Given the description of an element on the screen output the (x, y) to click on. 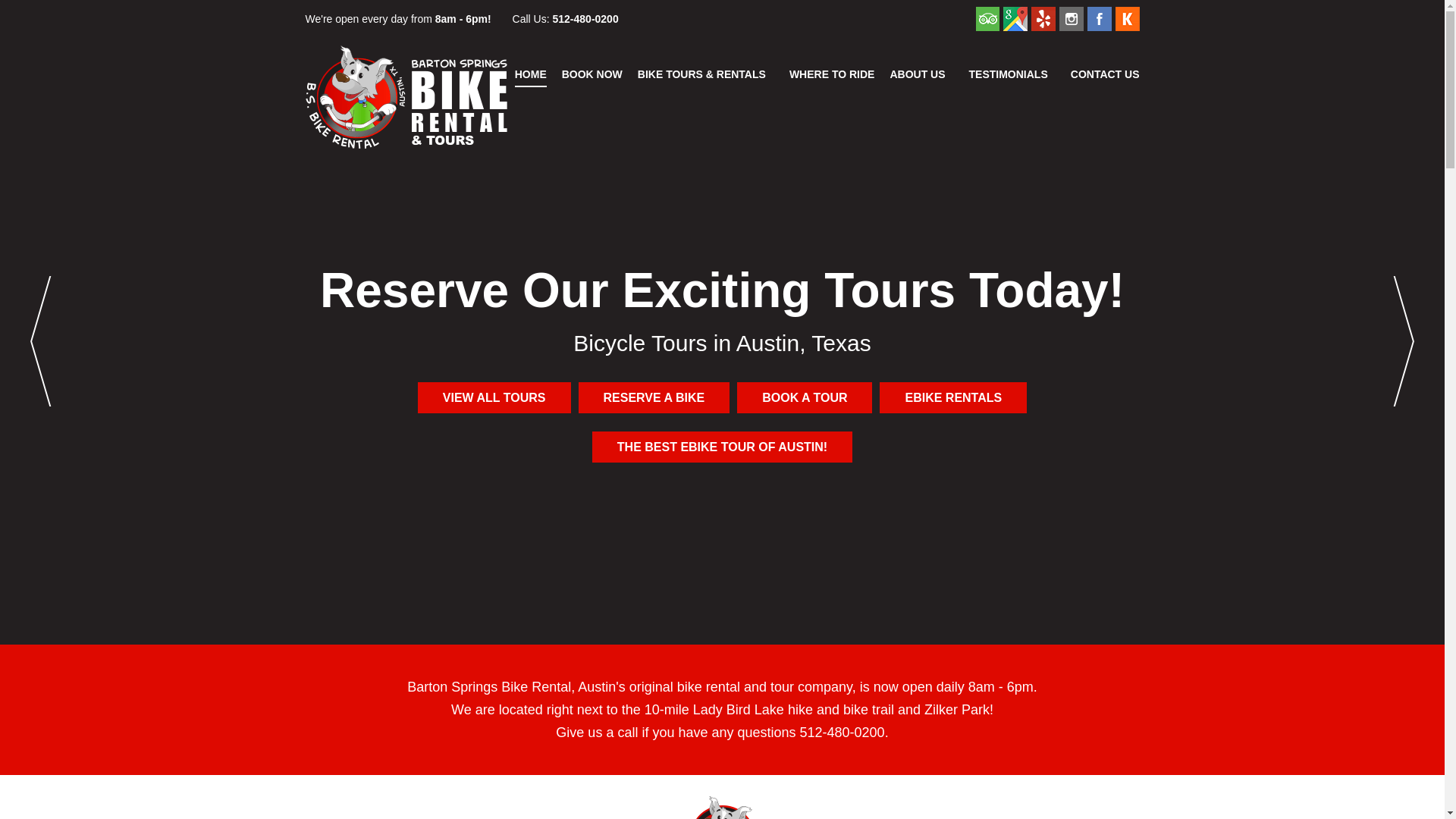
TESTIMONIALS (1008, 73)
RESERVE A BIKE (654, 397)
WHERE TO RIDE (832, 73)
VIEW ALL TOURS (493, 397)
BOOK A TOUR (804, 397)
KAYAK (1126, 18)
ABOUT US (921, 73)
HOME (531, 73)
EBIKE RENTALS (952, 397)
THE BEST EBIKE TOUR OF AUSTIN! (721, 446)
BOOK NOW (592, 73)
CONTACT US (1105, 73)
